Given the description of an element on the screen output the (x, y) to click on. 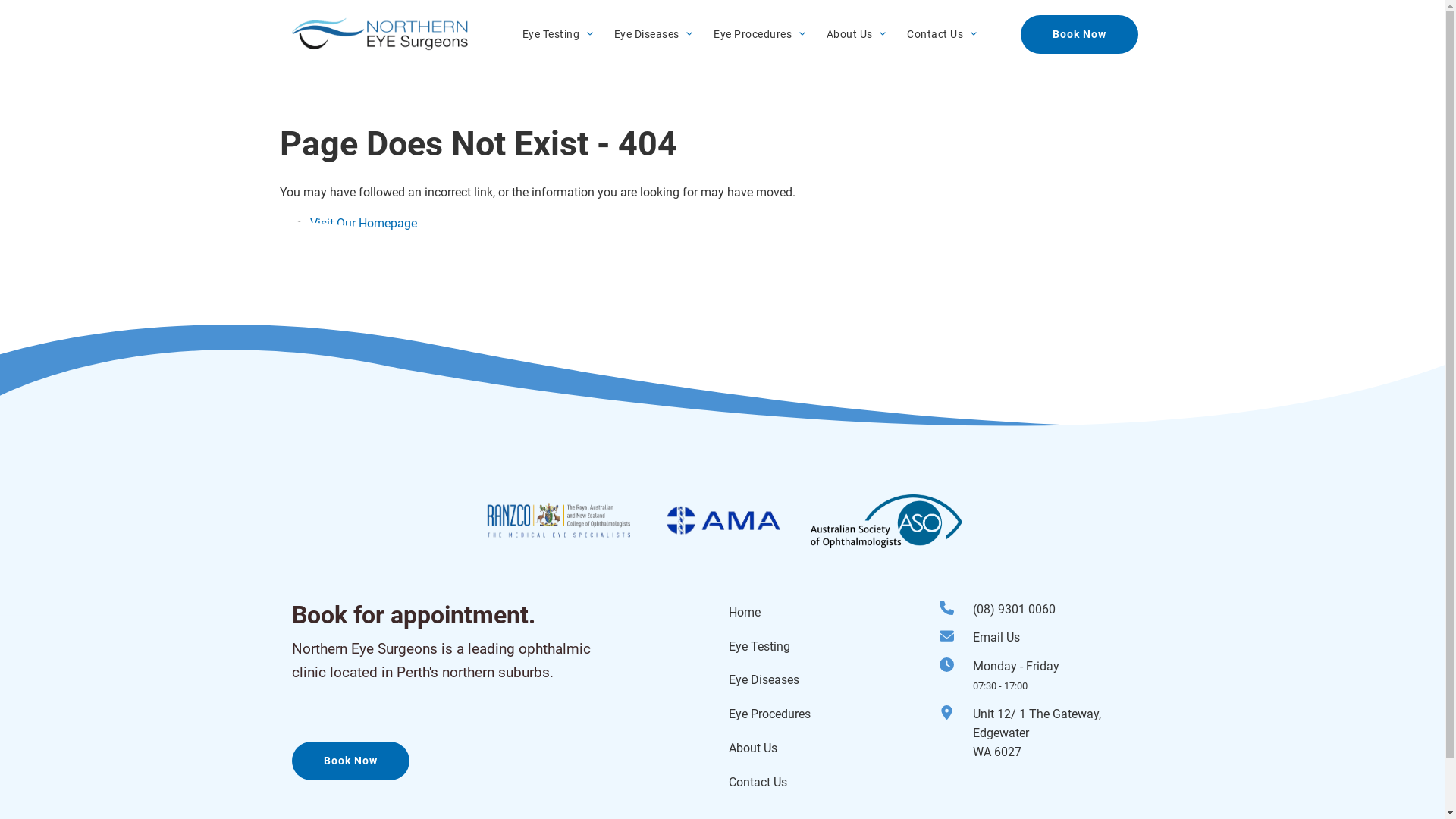
Email Us Element type: text (1062, 637)
Search Our Website Element type: text (361, 242)
Book Now Element type: text (349, 760)
Contact Us Element type: text (757, 782)
Book Now Element type: text (1079, 34)
Eye Procedures Element type: text (751, 34)
Eye Testing Element type: text (549, 34)
Contact Us Element type: text (933, 34)
Eye Procedures Element type: text (768, 713)
(08) 9301 0060 Element type: text (1062, 609)
Eye Diseases Element type: text (763, 679)
Home Element type: text (743, 612)
About Us Element type: text (847, 34)
Eye Diseases Element type: text (645, 34)
About Us Element type: text (752, 747)
Visit Our Homepage Element type: text (362, 223)
Eye Testing Element type: text (758, 646)
